Given the description of an element on the screen output the (x, y) to click on. 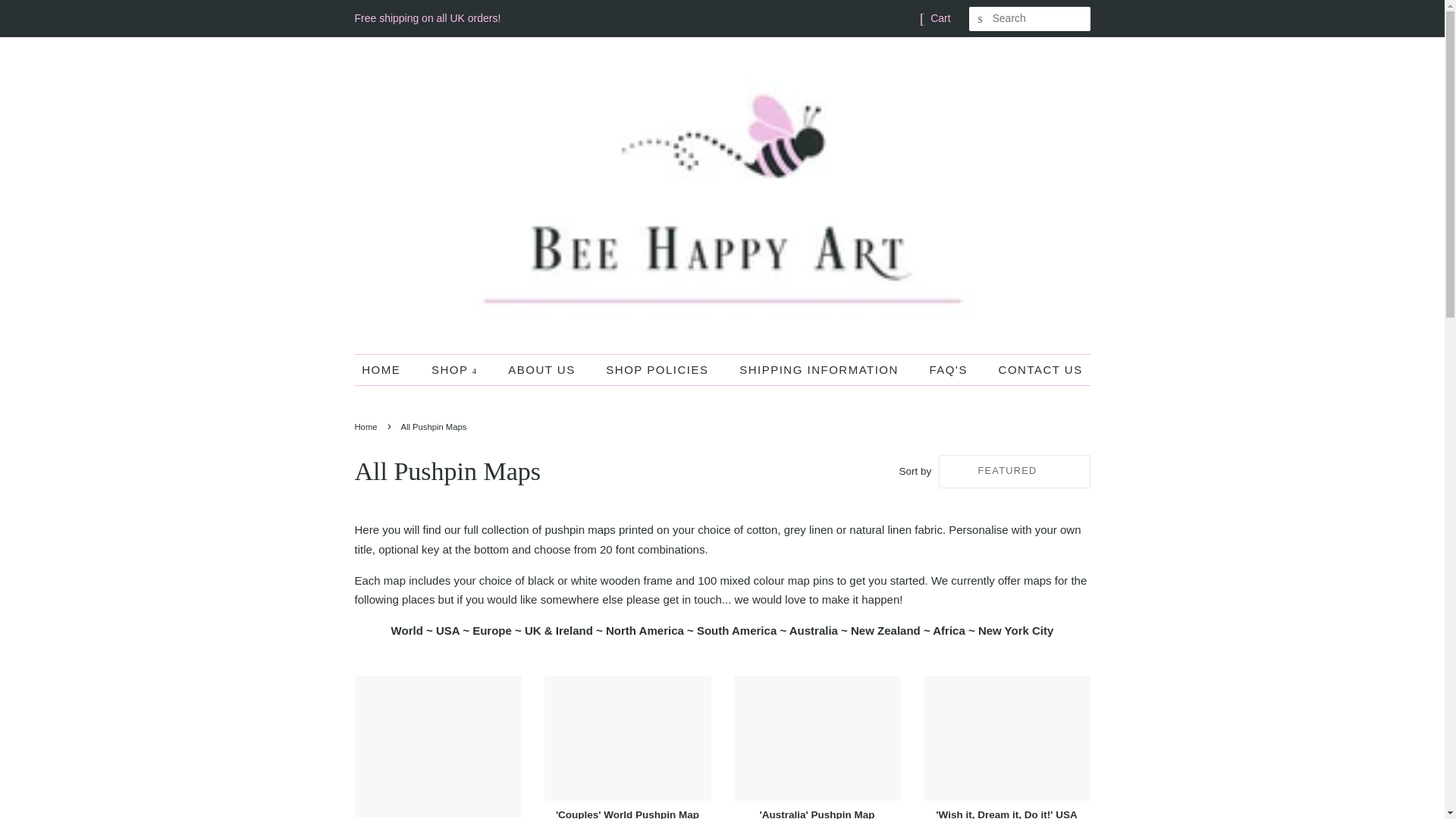
HOME (387, 369)
Back to the frontpage (368, 426)
SEARCH (980, 18)
Cart (940, 18)
SHOP (456, 369)
